Given the description of an element on the screen output the (x, y) to click on. 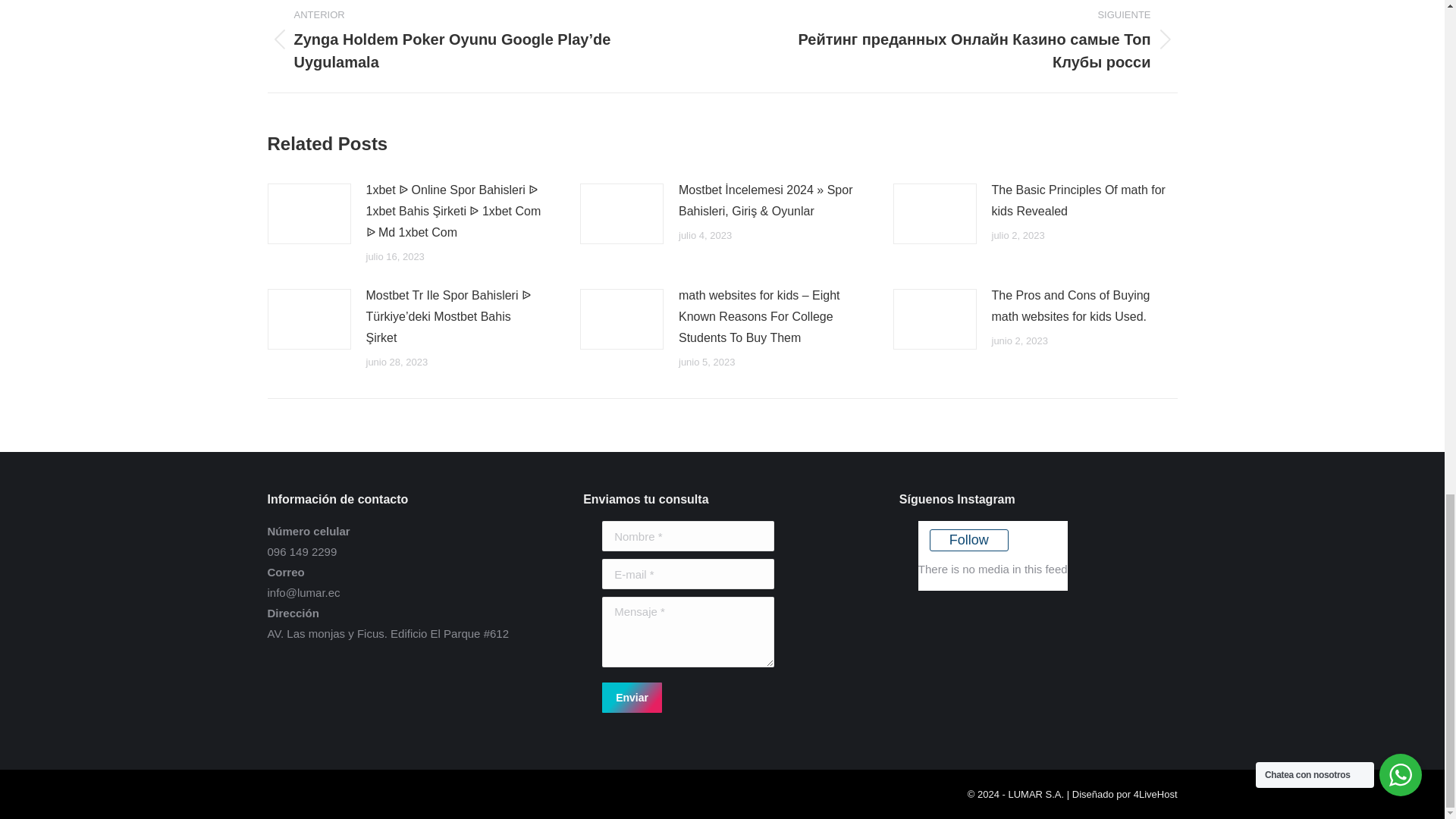
enviar (699, 698)
